Given the description of an element on the screen output the (x, y) to click on. 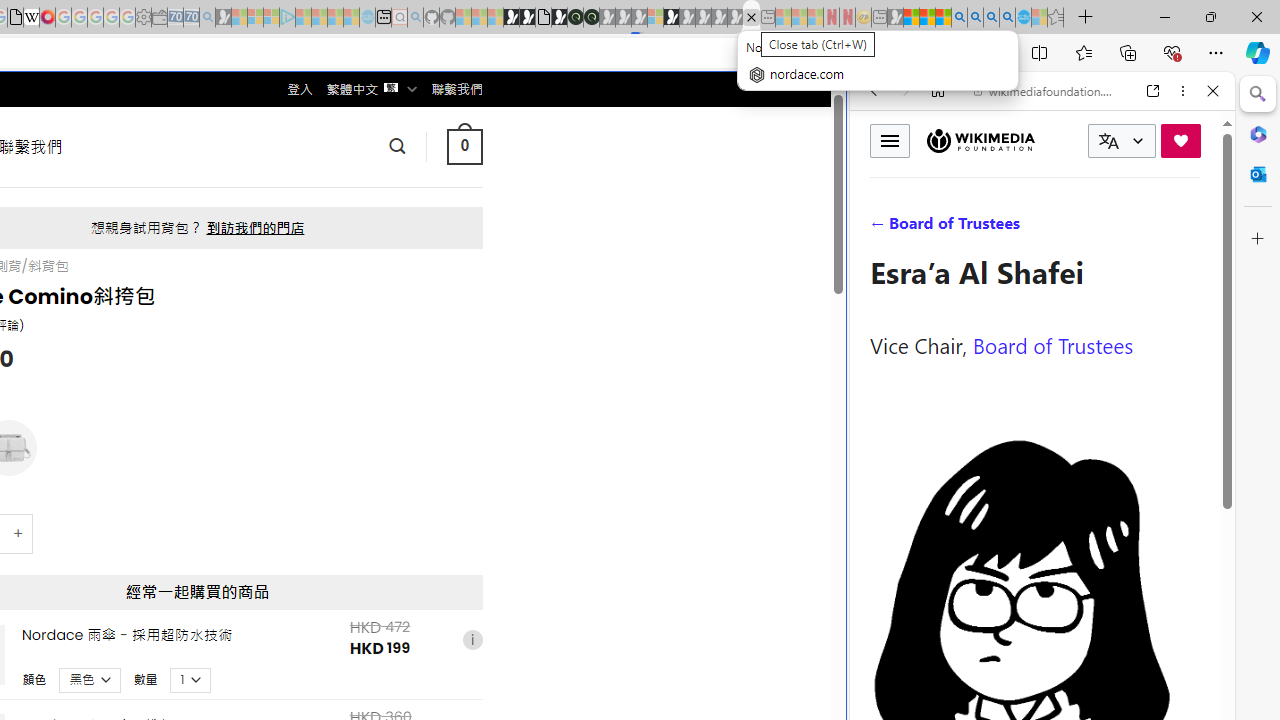
WEB   (882, 228)
Copilot (Ctrl+Shift+.) (1258, 52)
Collections (1128, 52)
Cheap Car Rentals - Save70.com - Sleeping (191, 17)
